Given the description of an element on the screen output the (x, y) to click on. 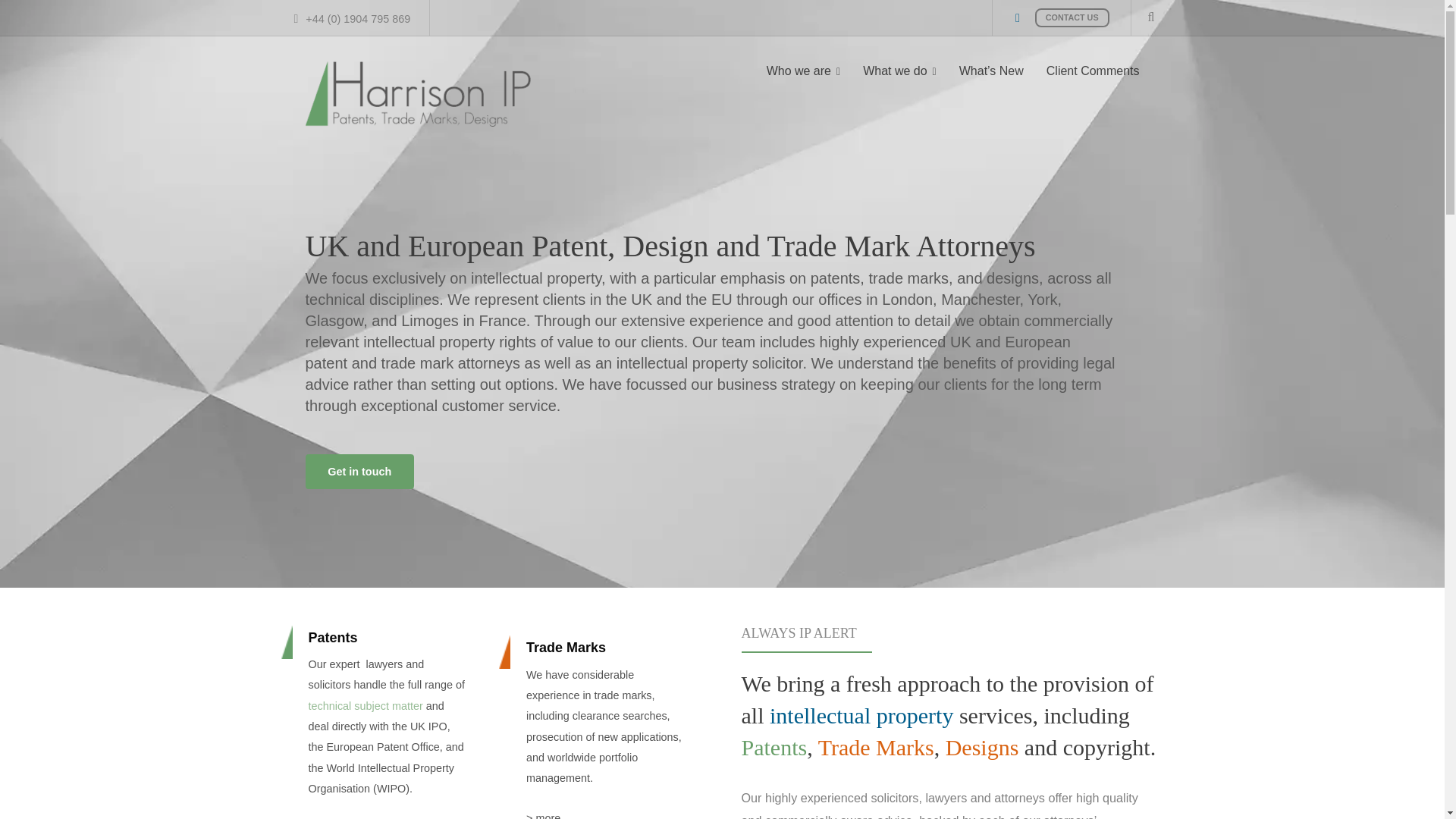
Get in touch (358, 471)
CONTACT US (1072, 17)
technical subject matter (364, 705)
What we do (899, 70)
Who we are (803, 70)
Client Comments (1093, 70)
